Given the description of an element on the screen output the (x, y) to click on. 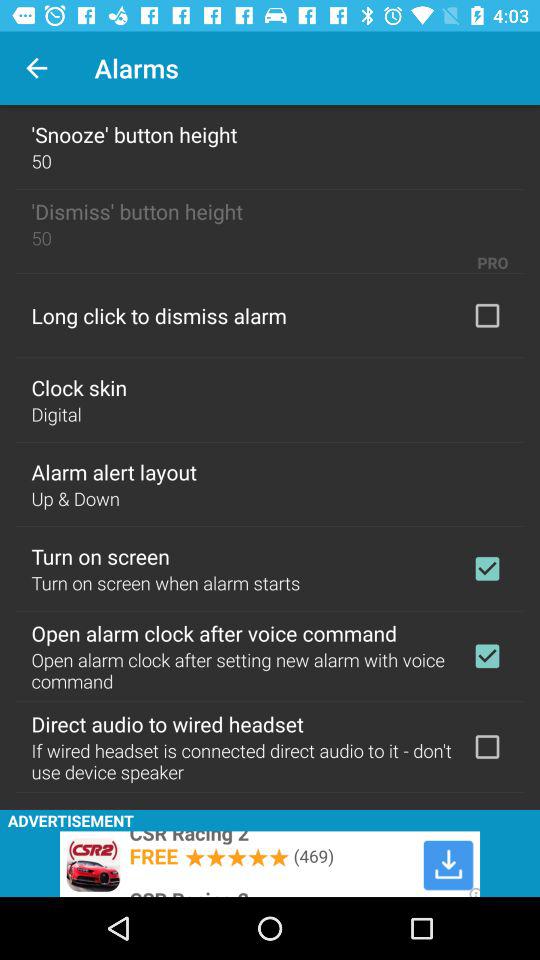
go to click option (487, 315)
